Given the description of an element on the screen output the (x, y) to click on. 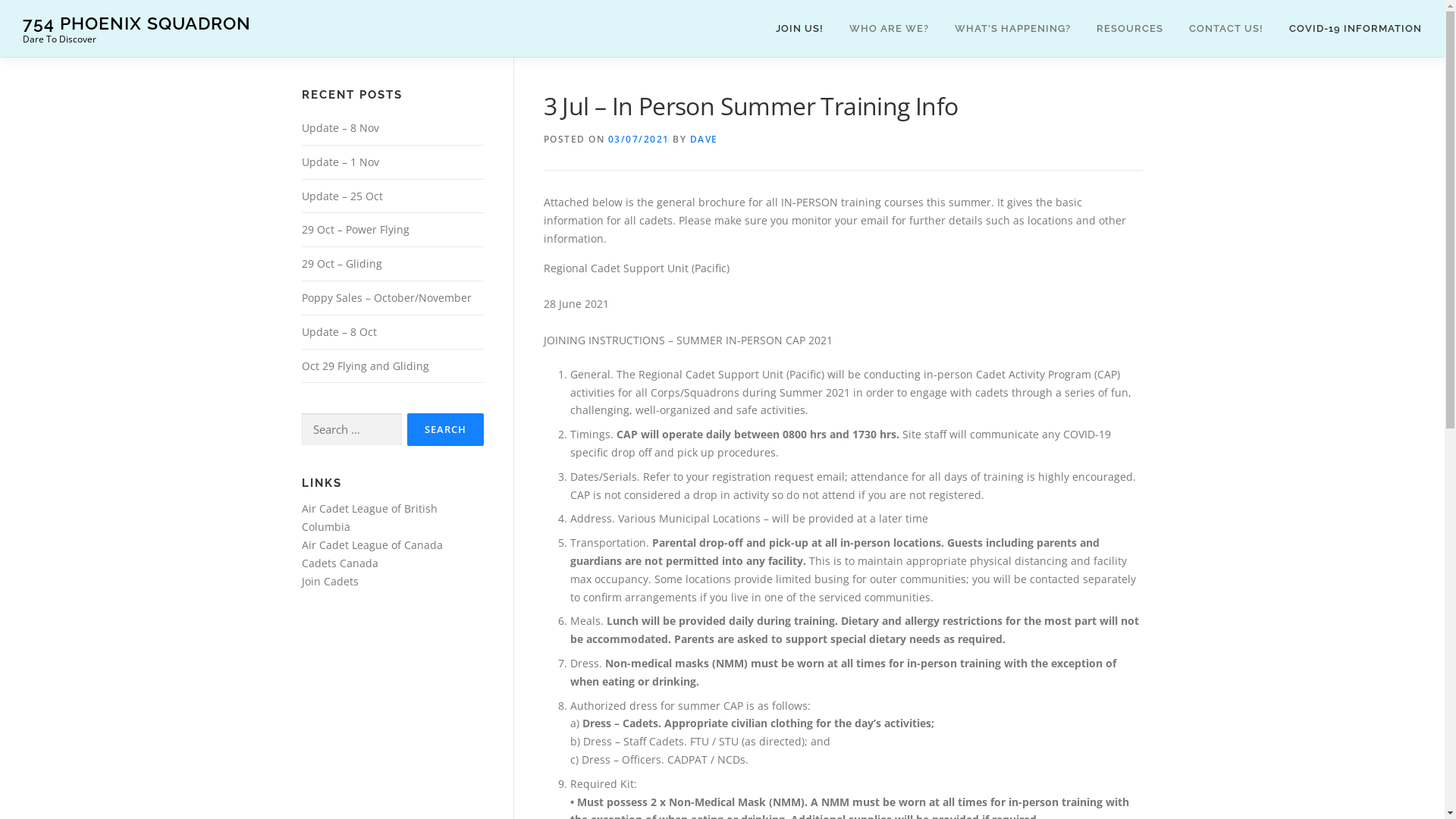
Skip to content Element type: text (37, 9)
754 PHOENIX SQUADRON Element type: text (136, 22)
Air Cadet League of British Columbia Element type: text (369, 517)
Oct 29 Flying and Gliding Element type: text (365, 365)
DAVE Element type: text (704, 138)
WHO ARE WE? Element type: text (888, 28)
Search Element type: text (444, 429)
JOIN US! Element type: text (799, 28)
COVID-19 INFORMATION Element type: text (1348, 28)
CONTACT US! Element type: text (1226, 28)
Cadets Canada Element type: text (339, 562)
Join Cadets Element type: text (329, 581)
03/07/2021 Element type: text (638, 138)
RESOURCES Element type: text (1129, 28)
Air Cadet League of Canada Element type: text (371, 544)
